Given the description of an element on the screen output the (x, y) to click on. 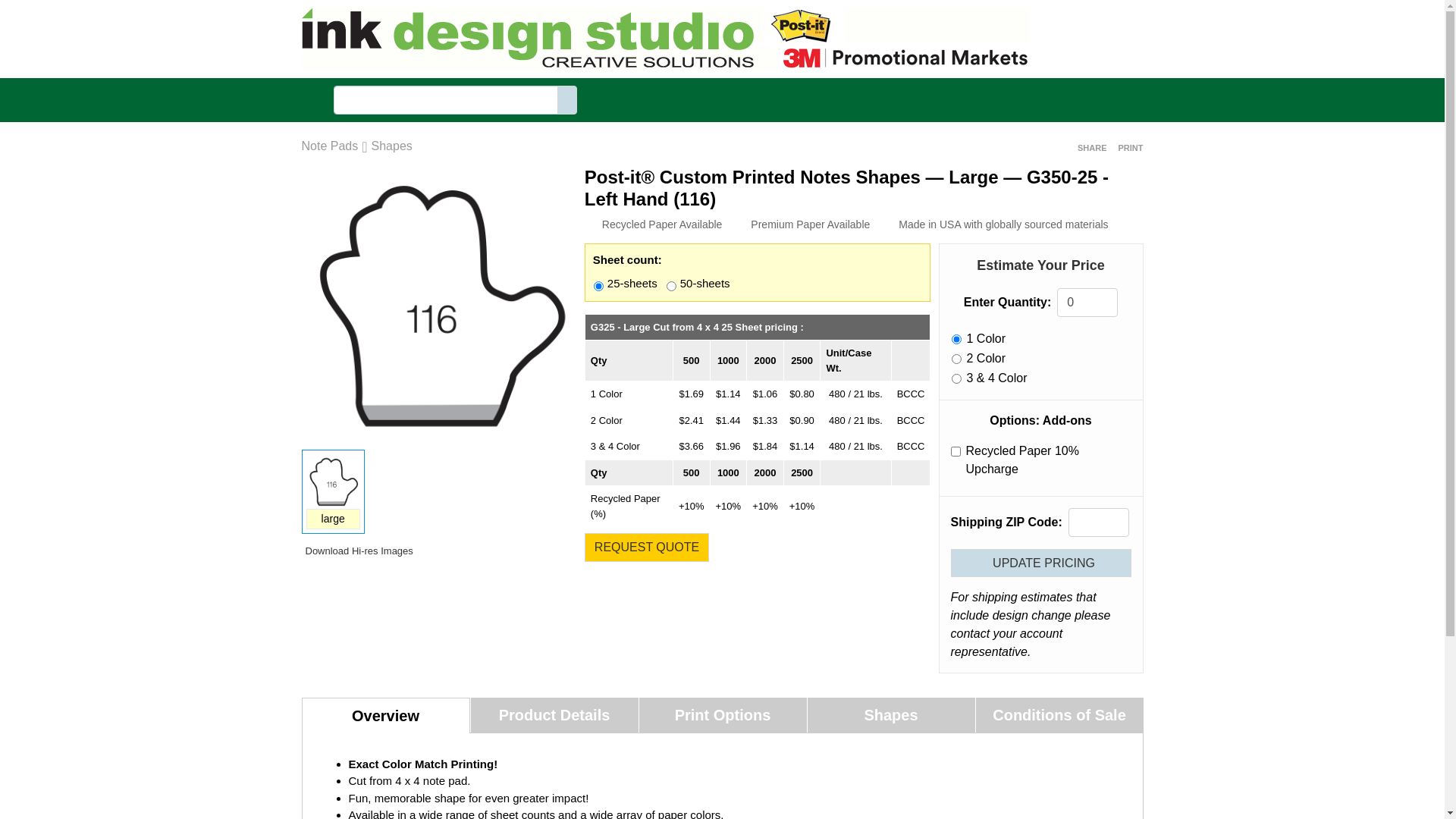
large Element type: text (333, 518)
UPDATE PRICING Element type: text (1040, 563)
Shapes Element type: text (391, 146)
REQUEST QUOTE Element type: text (646, 547)
PRINT Element type: text (1128, 147)
Product Details Element type: text (553, 714)
Shapes Element type: text (890, 714)
Download Hi-res Images Element type: text (357, 550)
Overview Element type: text (385, 715)
Conditions of Sale Element type: text (1058, 714)
Print Options Element type: text (722, 714)
Note Pads Element type: text (329, 146)
SHARE Element type: text (1090, 147)
